Given the description of an element on the screen output the (x, y) to click on. 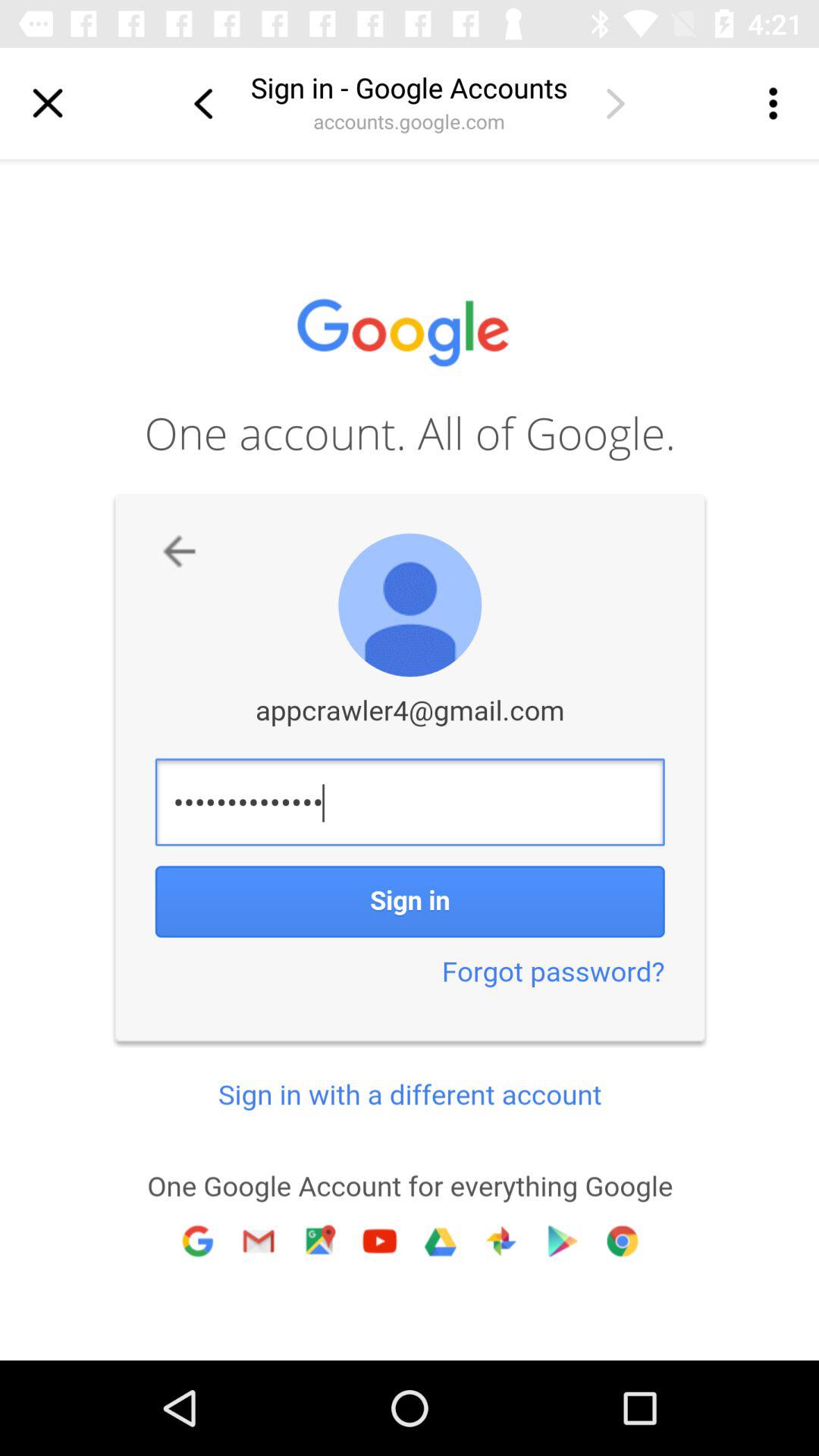
check your account (615, 103)
